Given the description of an element on the screen output the (x, y) to click on. 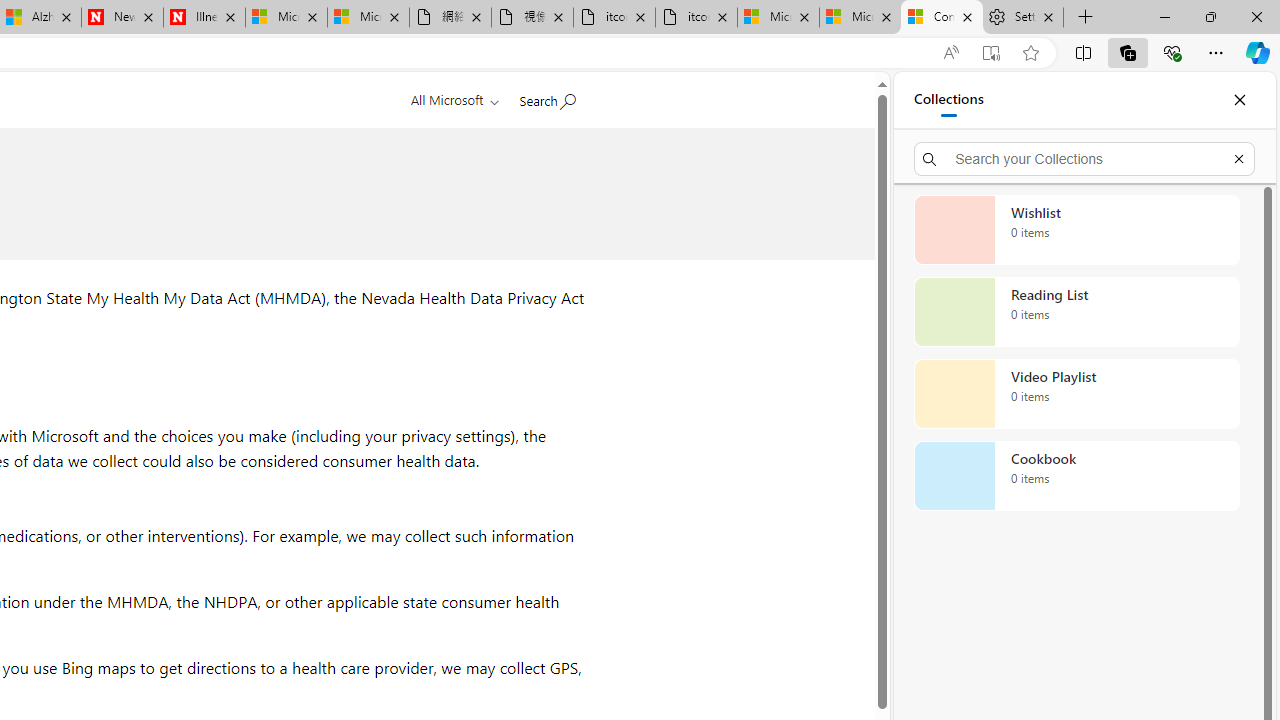
Exit search (1238, 158)
Reading List collection, 0 items (1076, 312)
itconcepthk.com/projector_solutions.mp4 (696, 17)
Video Playlist collection, 0 items (1076, 394)
Wishlist collection, 0 items (1076, 229)
Consumer Health Data Privacy Policy (941, 17)
